Given the description of an element on the screen output the (x, y) to click on. 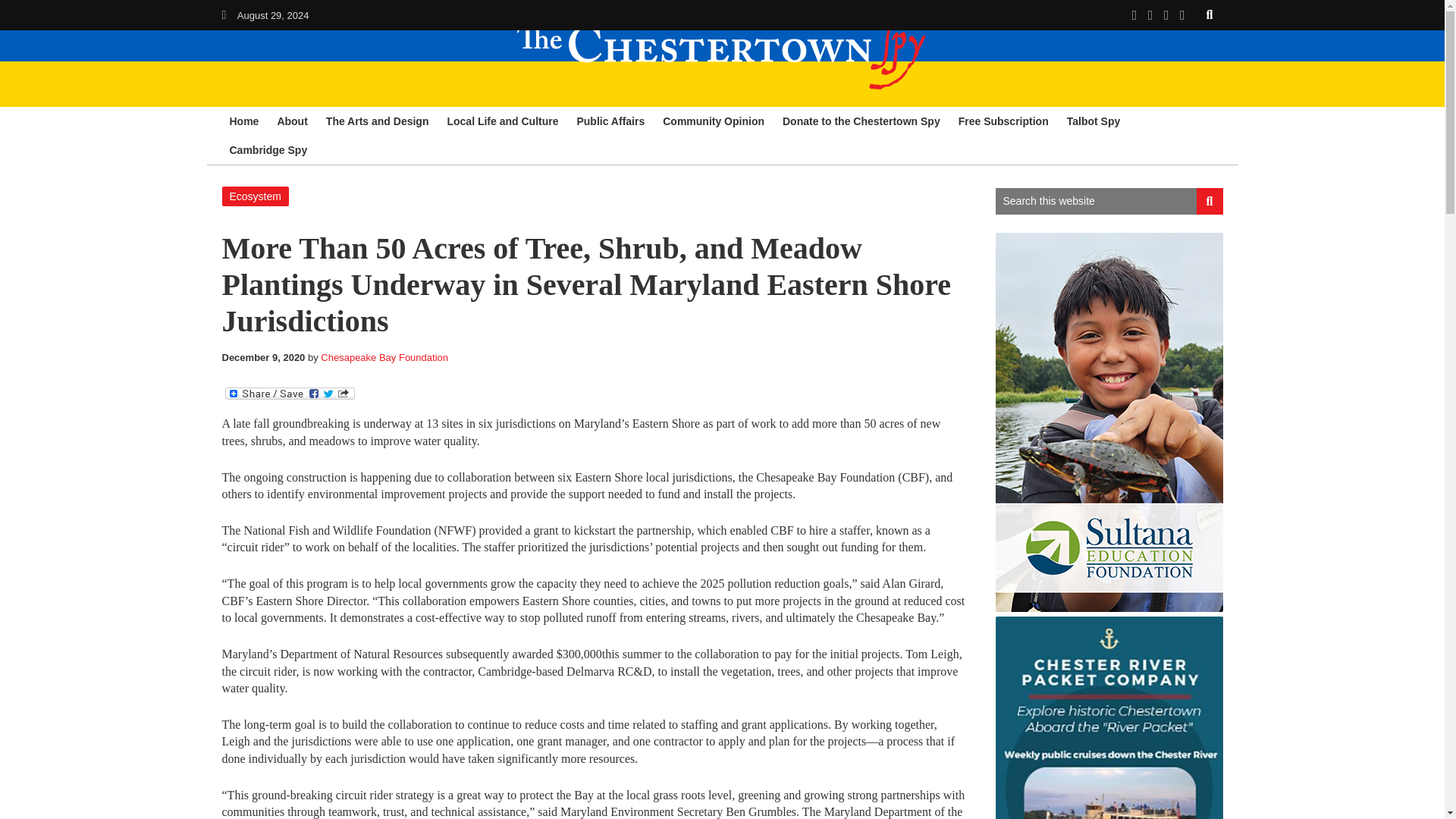
Search (1209, 14)
Search (1209, 201)
Search (1209, 14)
Search (1209, 201)
Search (1209, 14)
